Given the description of an element on the screen output the (x, y) to click on. 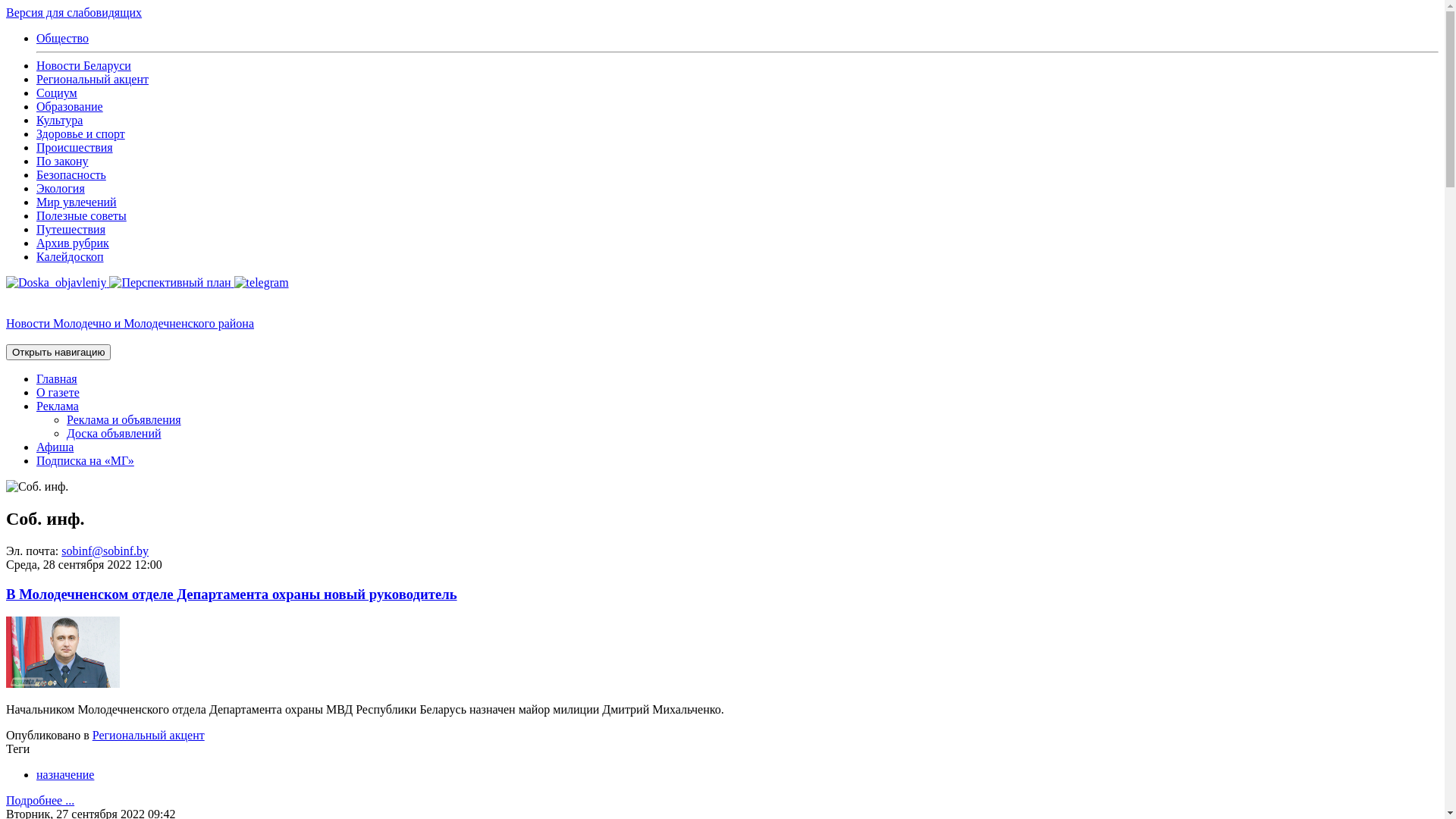
sobinf@sobinf.by Element type: text (104, 550)
Doska_objavleniy Element type: hover (57, 282)
telegram Element type: hover (261, 282)
